Given the description of an element on the screen output the (x, y) to click on. 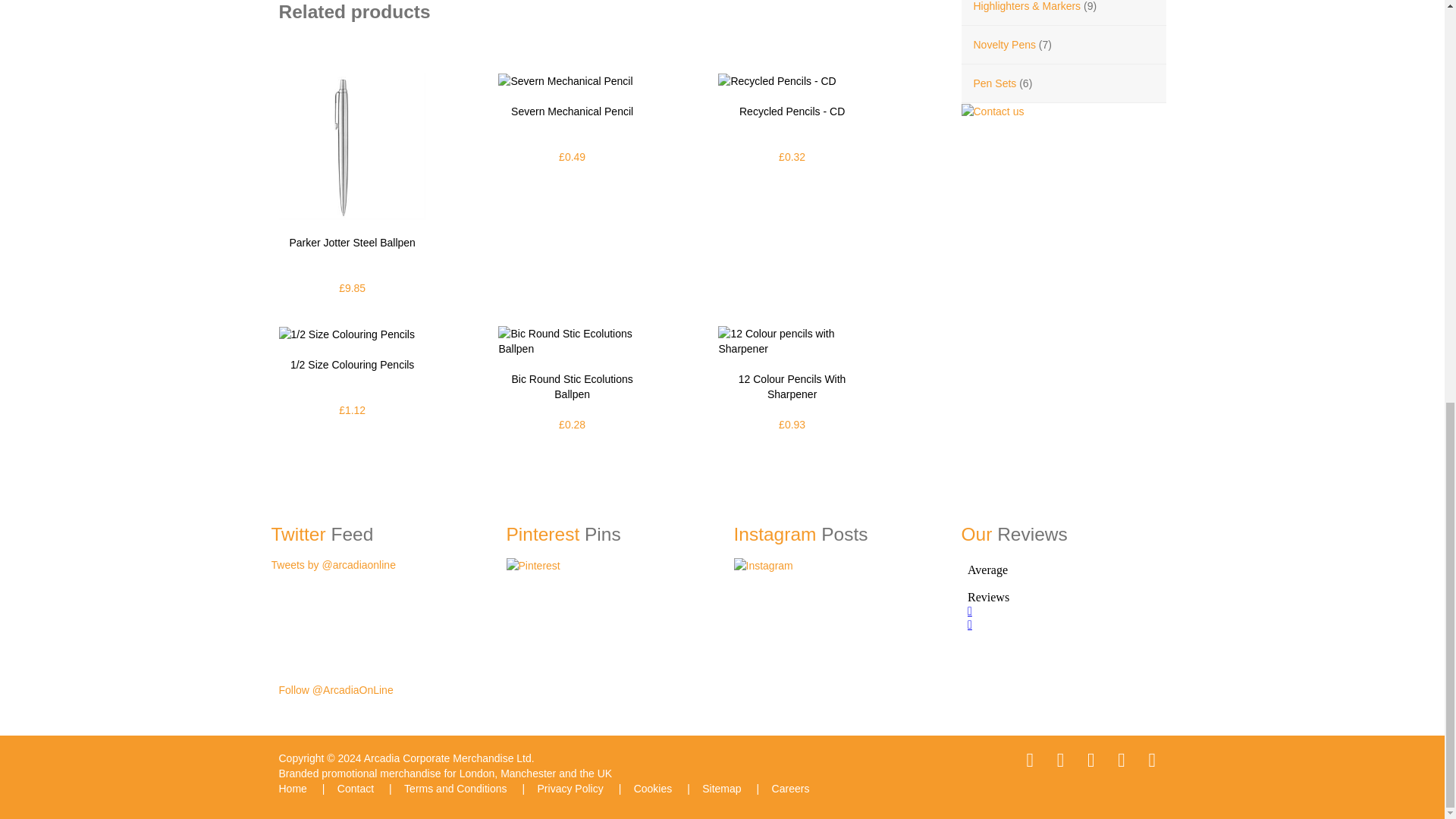
Bic Round Stic Ecolutions Ballpen (571, 340)
Severn Mechanical Pencil (564, 80)
Recycled Pencils - CD (776, 80)
Parker Jotter Steel Ballpen (352, 146)
12 Colour pencils with Sharpener (790, 340)
